Given the description of an element on the screen output the (x, y) to click on. 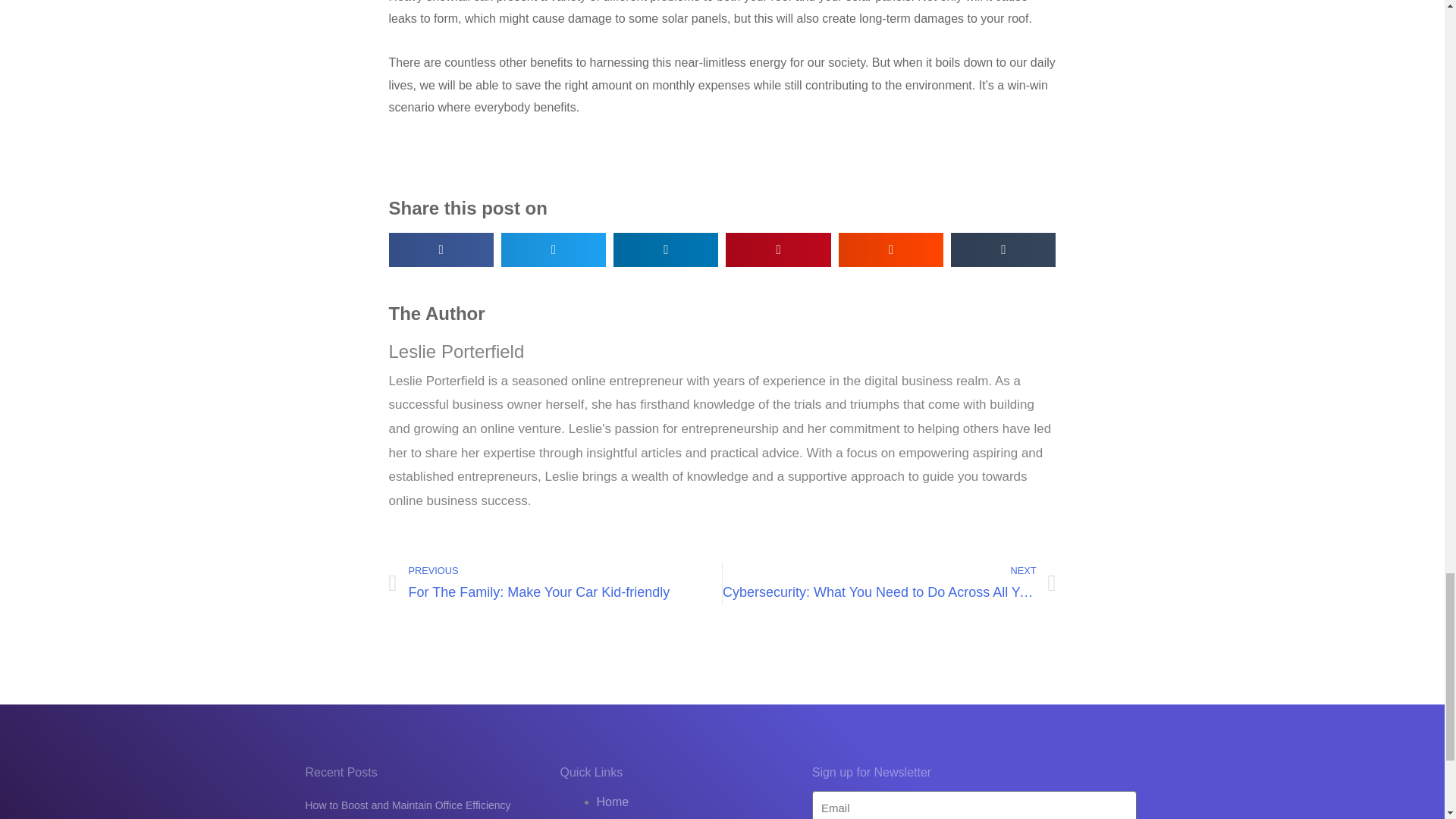
Home (555, 583)
How to Boost and Maintain Office Efficiency (611, 801)
